Given the description of an element on the screen output the (x, y) to click on. 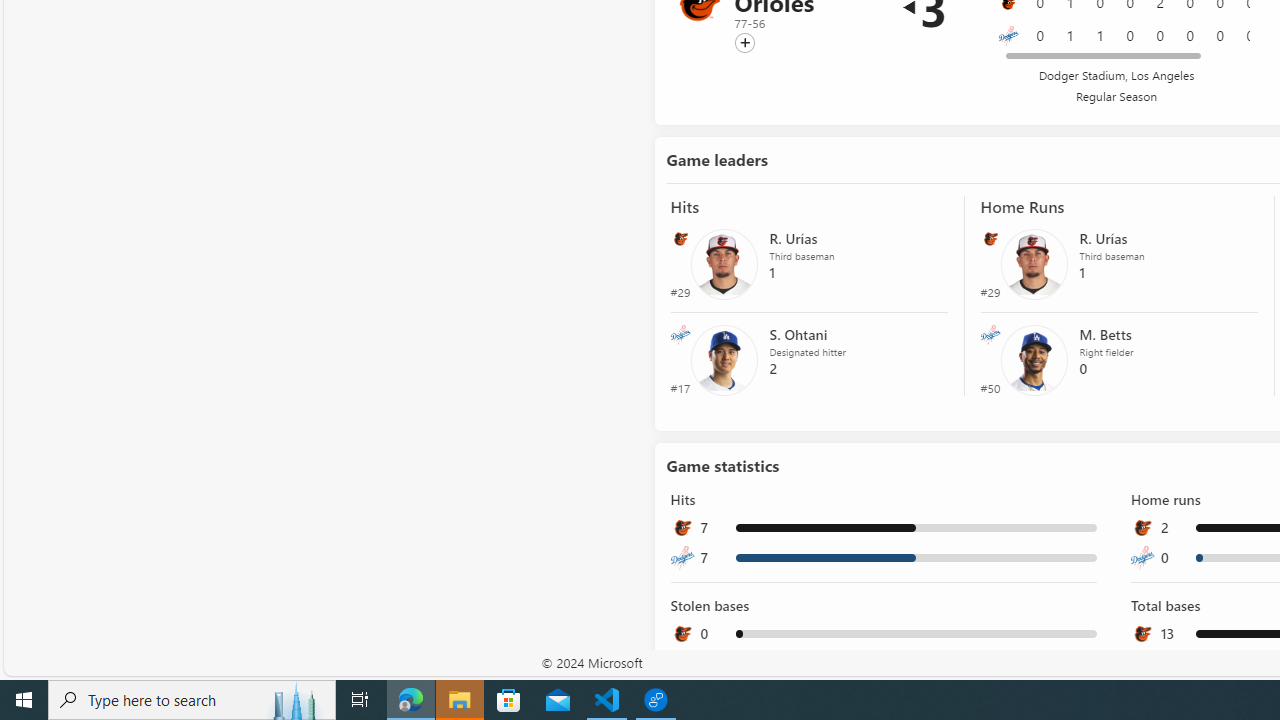
S. Ohtani (723, 358)
Follow Baltimore Orioles (744, 43)
M. Betts (1033, 358)
Dodgers (1008, 35)
